Given the description of an element on the screen output the (x, y) to click on. 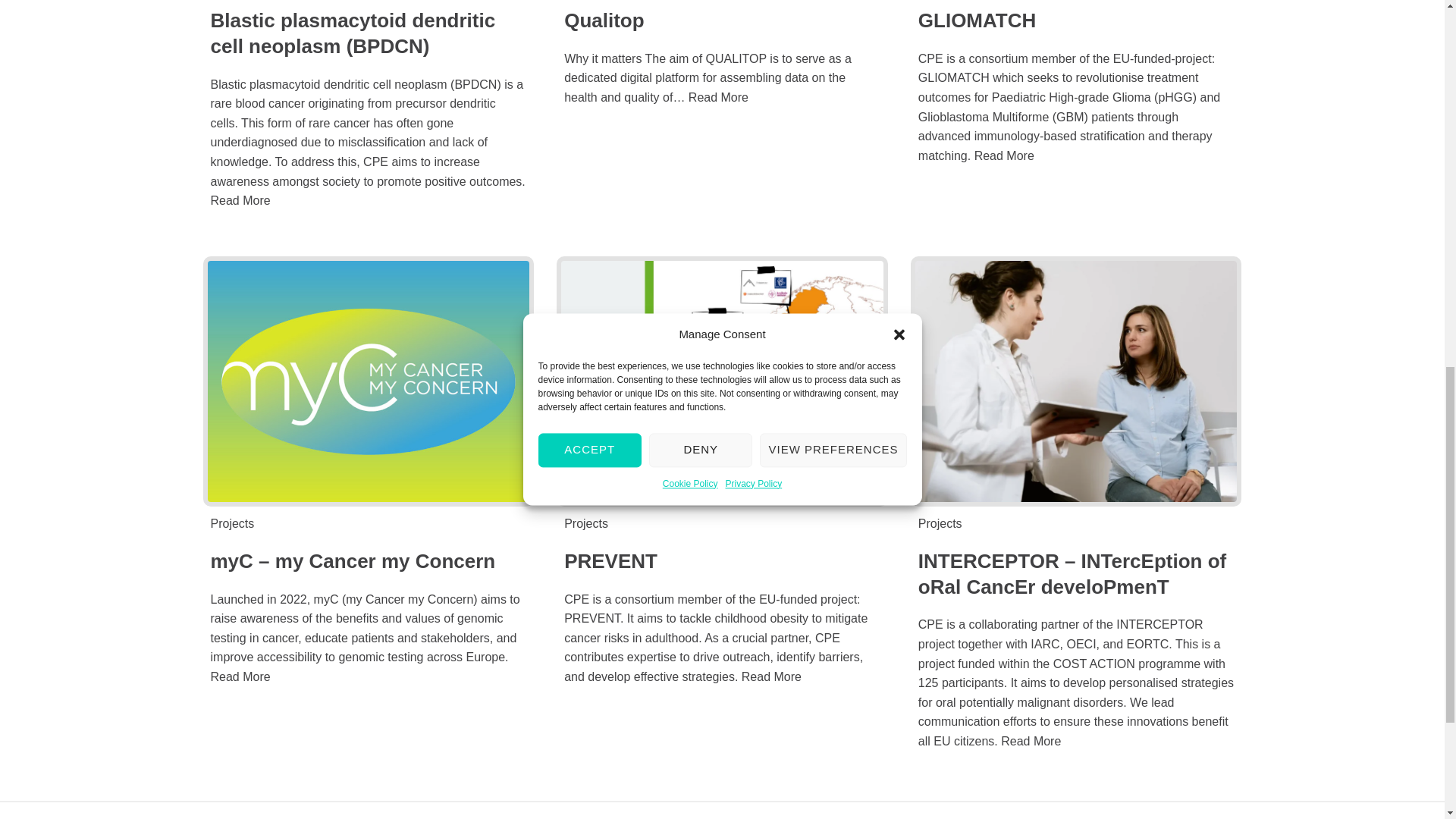
PREVENT (611, 560)
PREVENT (721, 381)
Qualitop (603, 20)
GLIOMATCH (977, 20)
